Given the description of an element on the screen output the (x, y) to click on. 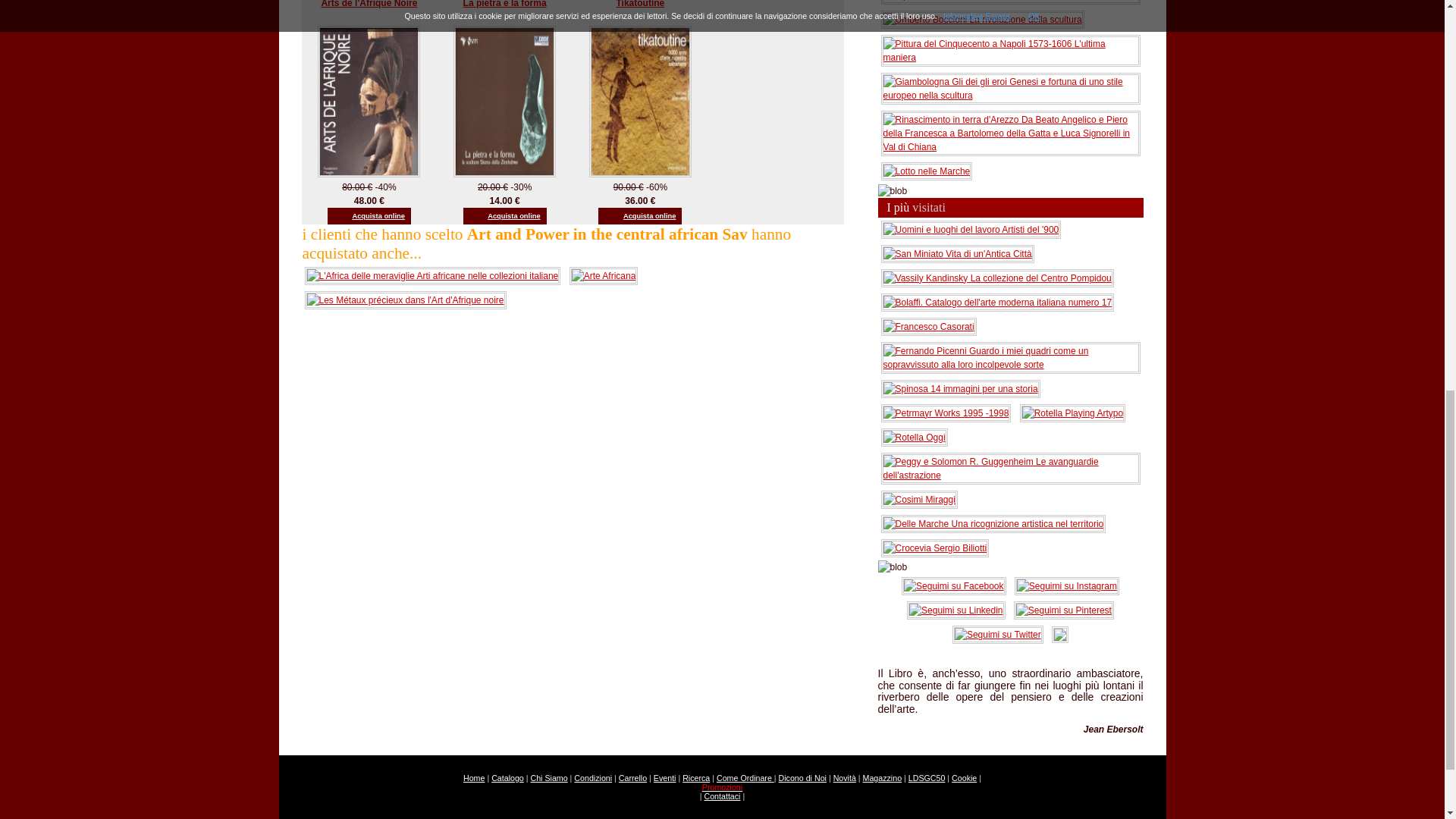
Umberto Boccioni La rivoluzione della scultura (982, 18)
Pittura del Cinquecento a Napoli 1573-1606 L'ultima maniera (1009, 50)
Vassily Kandinsky La collezione del Centro Pompidou (996, 276)
Arte Africana (604, 275)
Uomini e luoghi del lavoro Artisti del '900 (970, 228)
Lotto nelle Marche (926, 170)
